Given the description of an element on the screen output the (x, y) to click on. 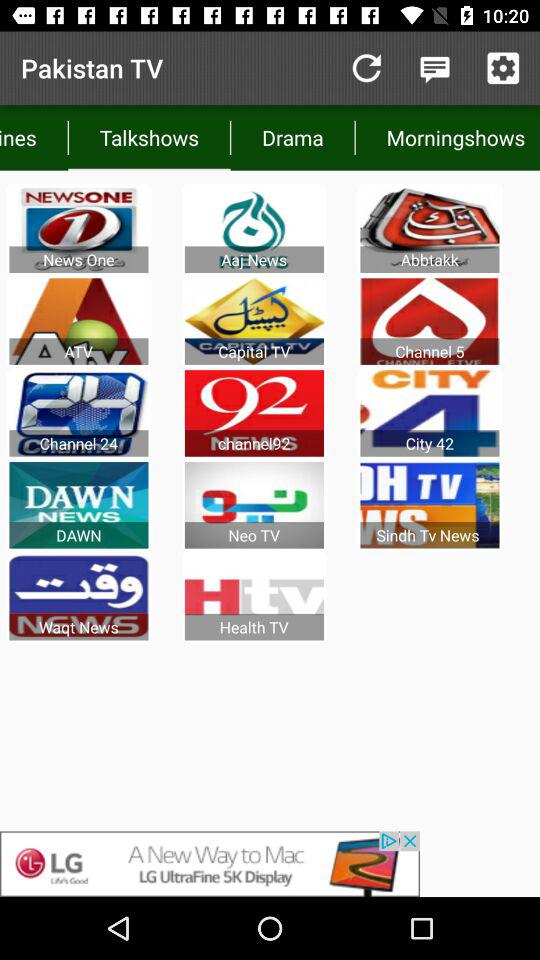
open chat box (434, 67)
